Given the description of an element on the screen output the (x, y) to click on. 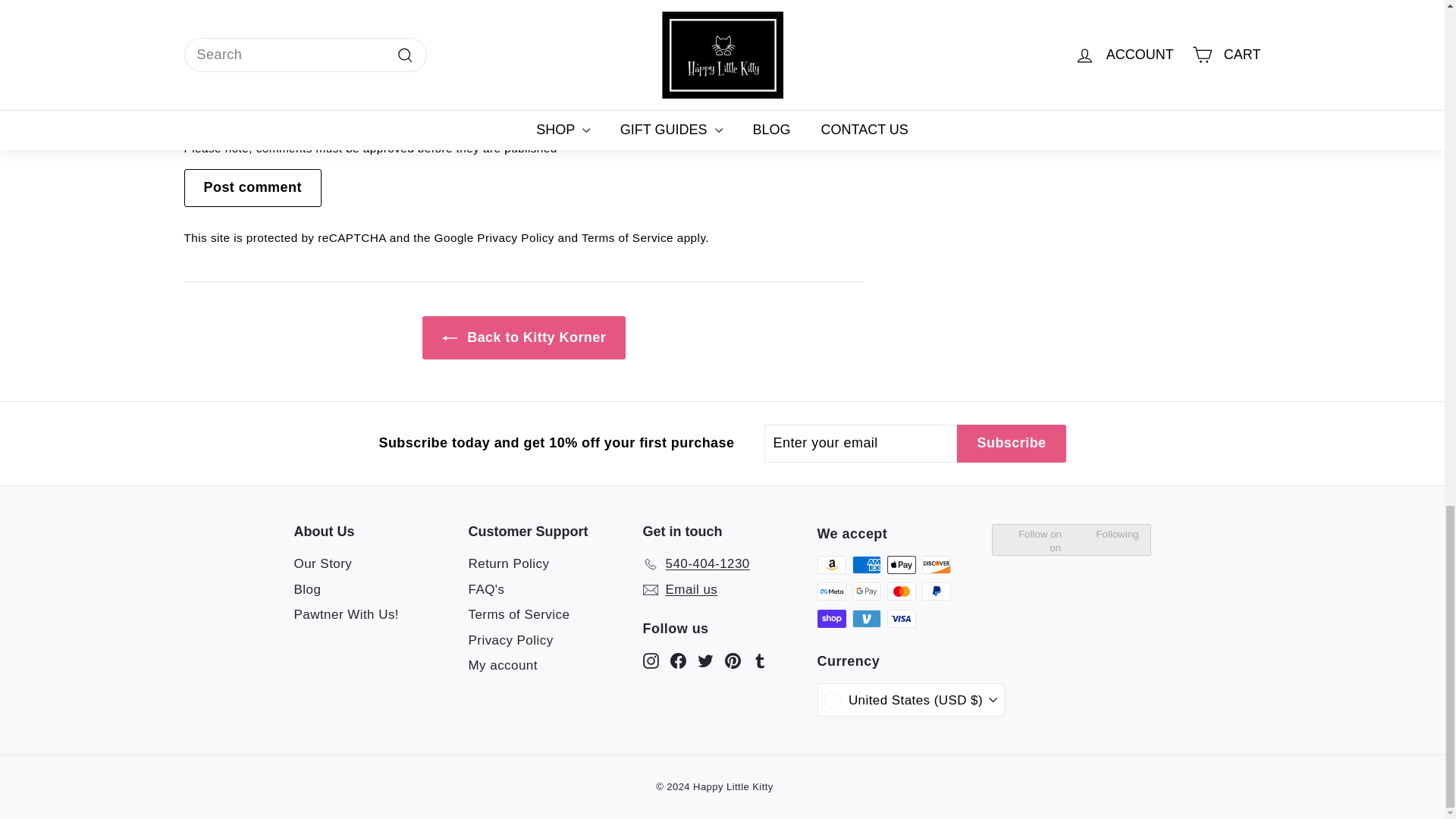
Apple Pay (900, 565)
Discover (935, 565)
Amazon (830, 565)
tumblr (760, 660)
twitter (705, 660)
icon-left-arrow (449, 337)
American Express (865, 565)
instagram (651, 660)
